Given the description of an element on the screen output the (x, y) to click on. 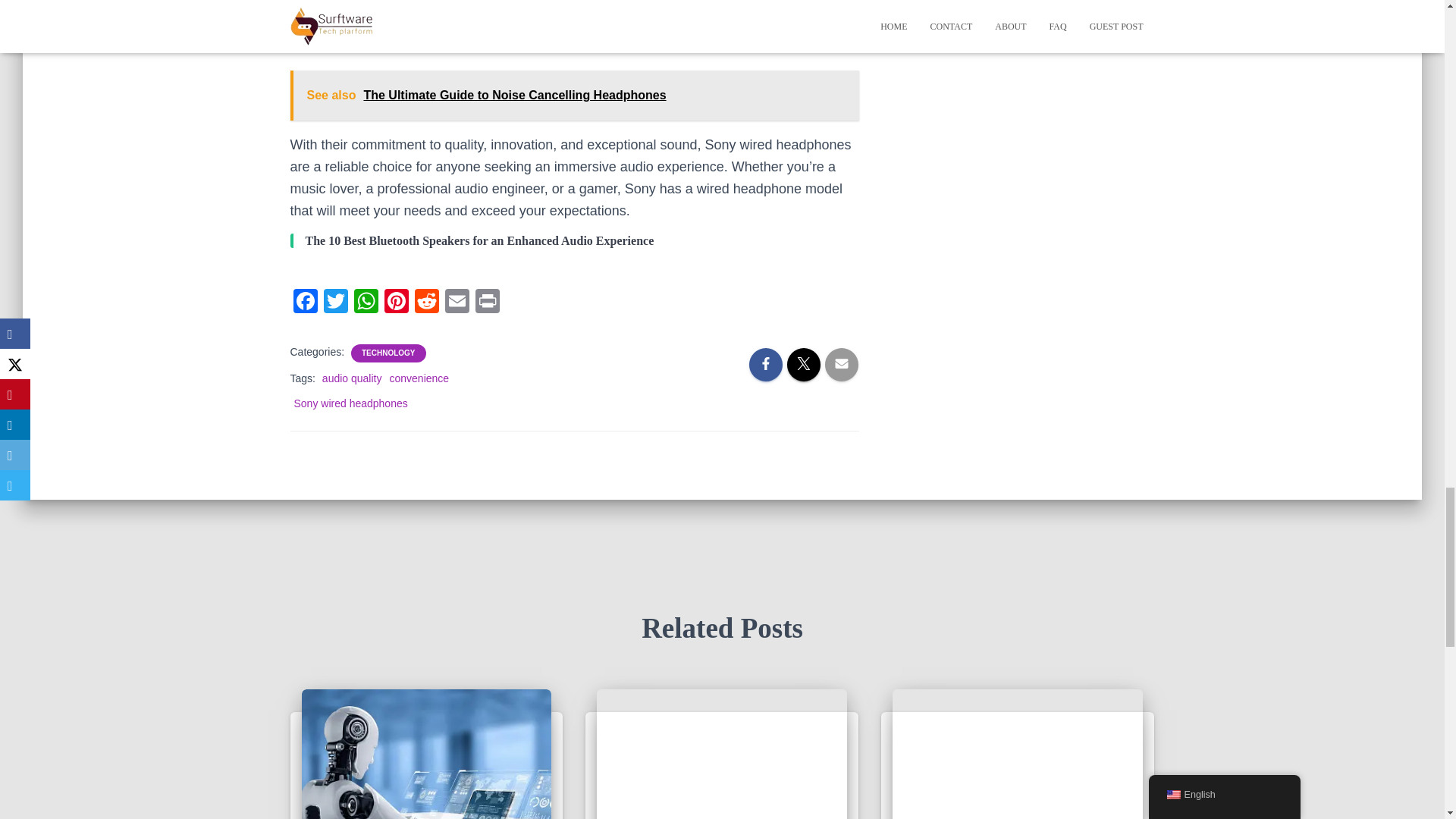
Email (456, 302)
Twitter (335, 302)
Sony wired headphones (350, 403)
WhatsApp (365, 302)
convenience (418, 378)
Reddit (425, 302)
Facebook (304, 302)
audio quality (351, 378)
Twitter (335, 302)
Pinterest (395, 302)
